Given the description of an element on the screen output the (x, y) to click on. 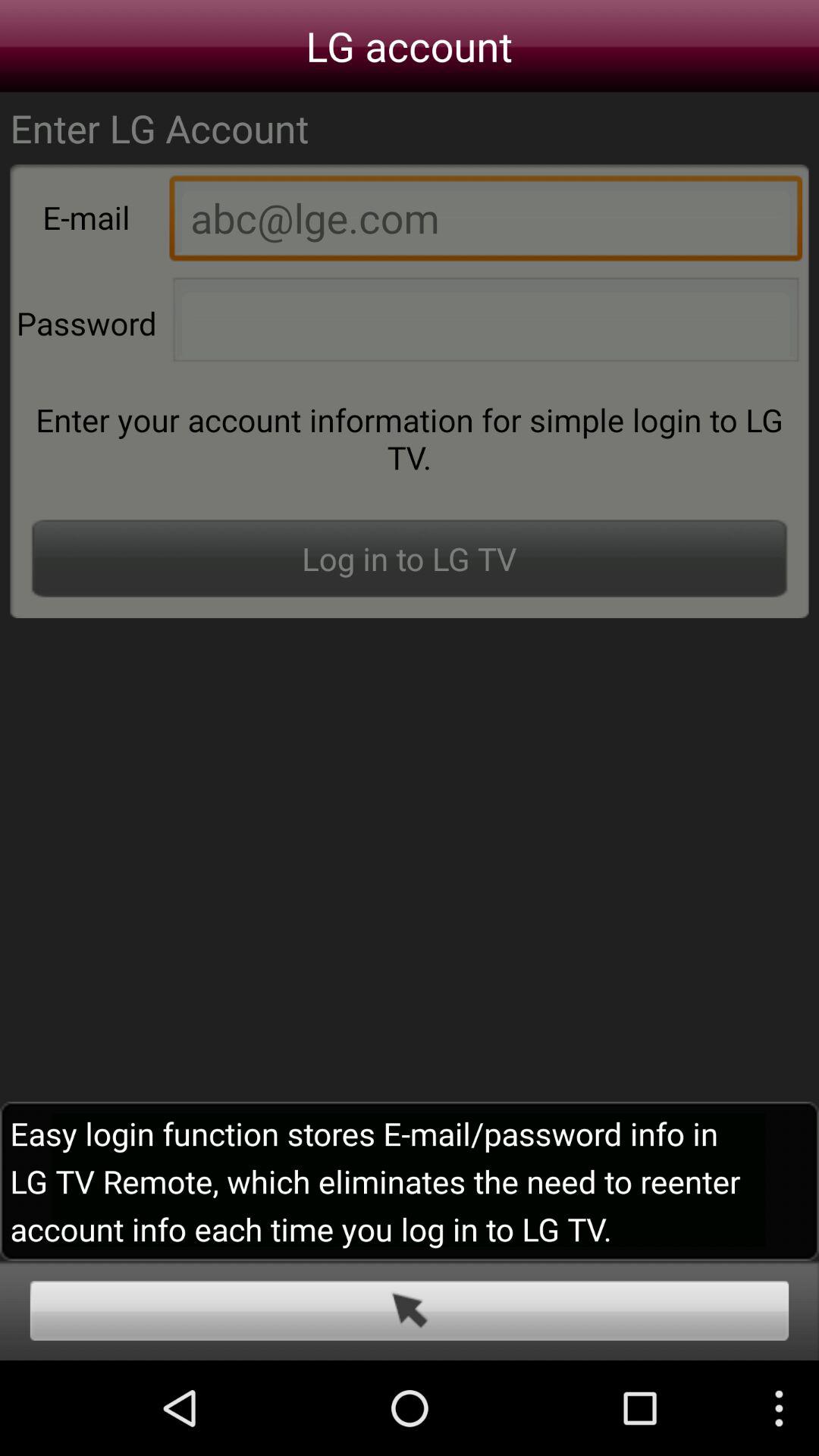
login box (409, 1310)
